Given the description of an element on the screen output the (x, y) to click on. 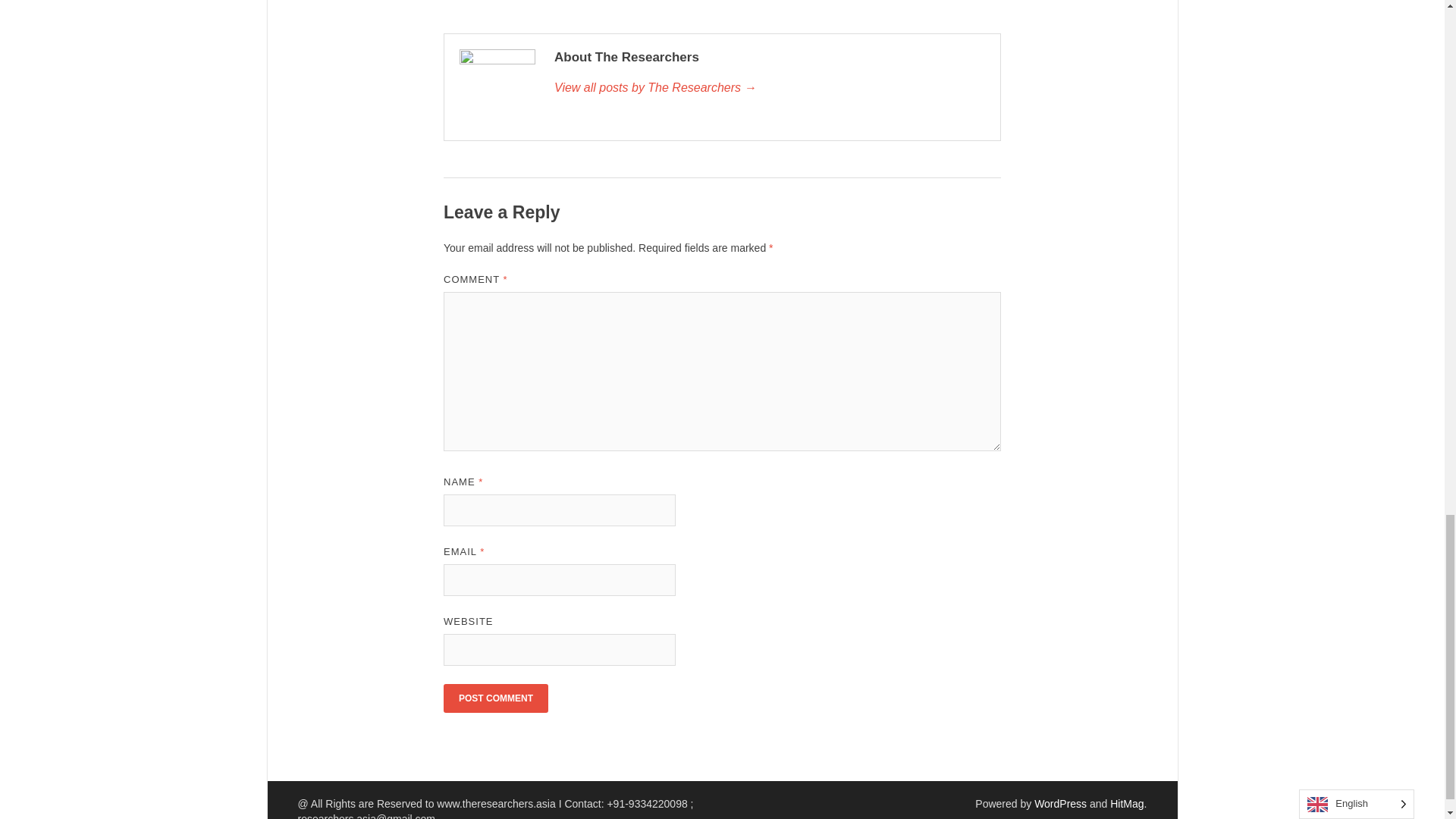
The Researchers (769, 87)
Post Comment (496, 697)
